Given the description of an element on the screen output the (x, y) to click on. 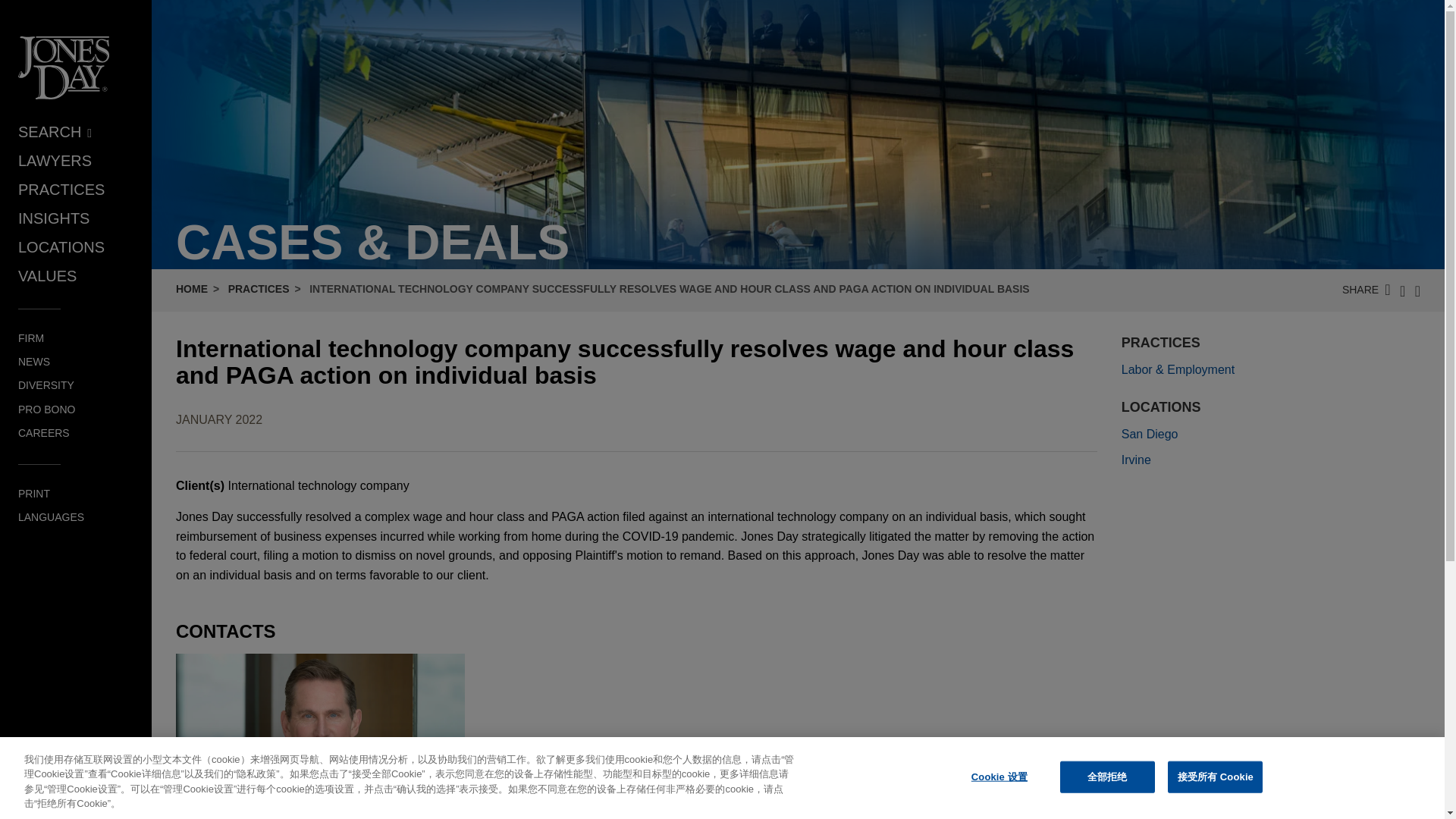
PRO BONO (46, 409)
PRACTICES (60, 189)
LAWYERS (54, 160)
LANGUAGES (50, 517)
SEARCH (54, 131)
FIRM (30, 337)
INSIGHTS (52, 217)
VALUES (47, 275)
CAREERS (43, 432)
HOME (192, 288)
